Given the description of an element on the screen output the (x, y) to click on. 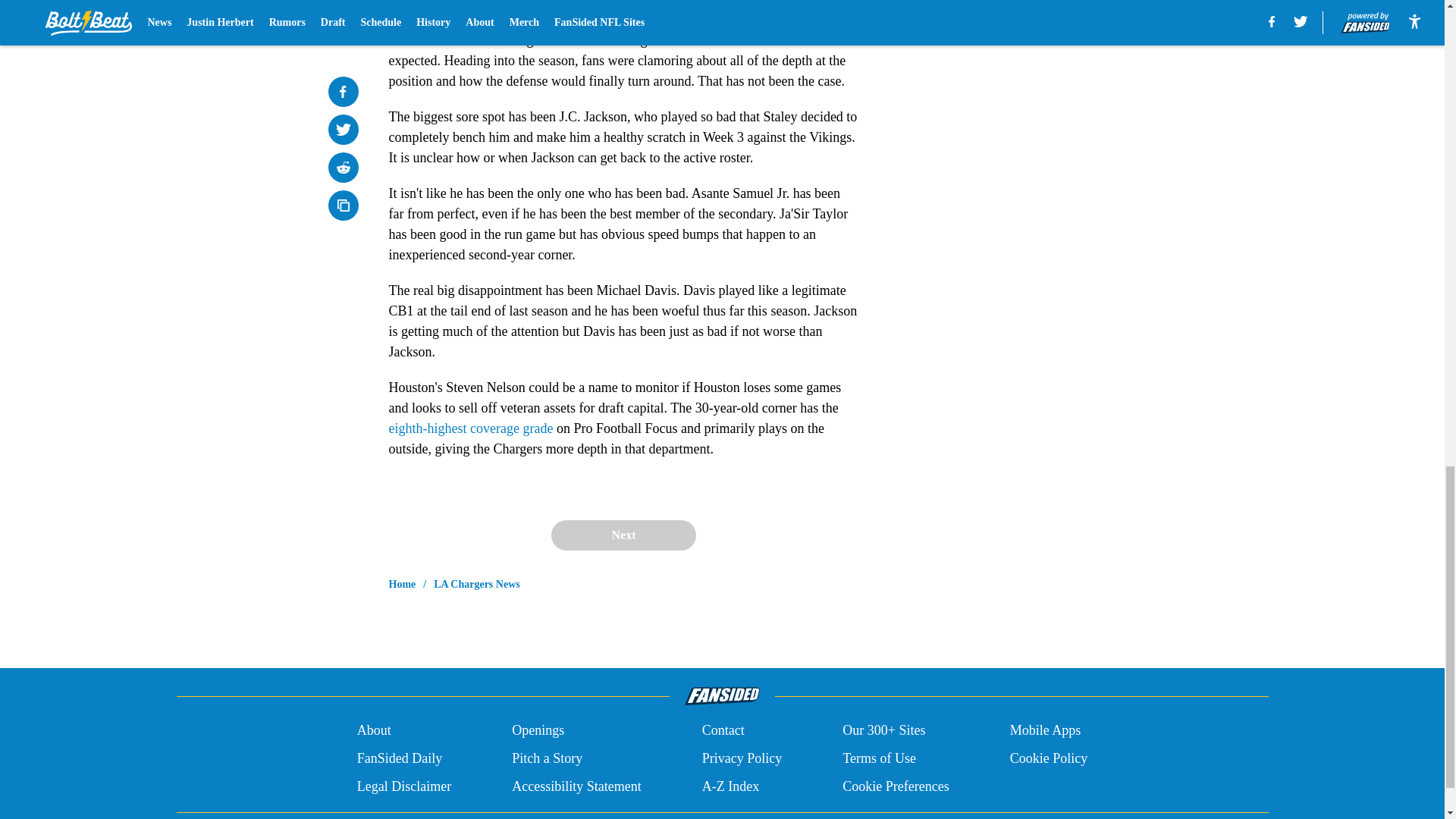
Contact (722, 730)
eighth-highest coverage grade (470, 427)
FanSided Daily (399, 758)
Legal Disclaimer (403, 786)
Home (401, 584)
LA Chargers News (476, 584)
Terms of Use (879, 758)
Pitch a Story (547, 758)
Cookie Policy (1048, 758)
Next (622, 535)
